Given the description of an element on the screen output the (x, y) to click on. 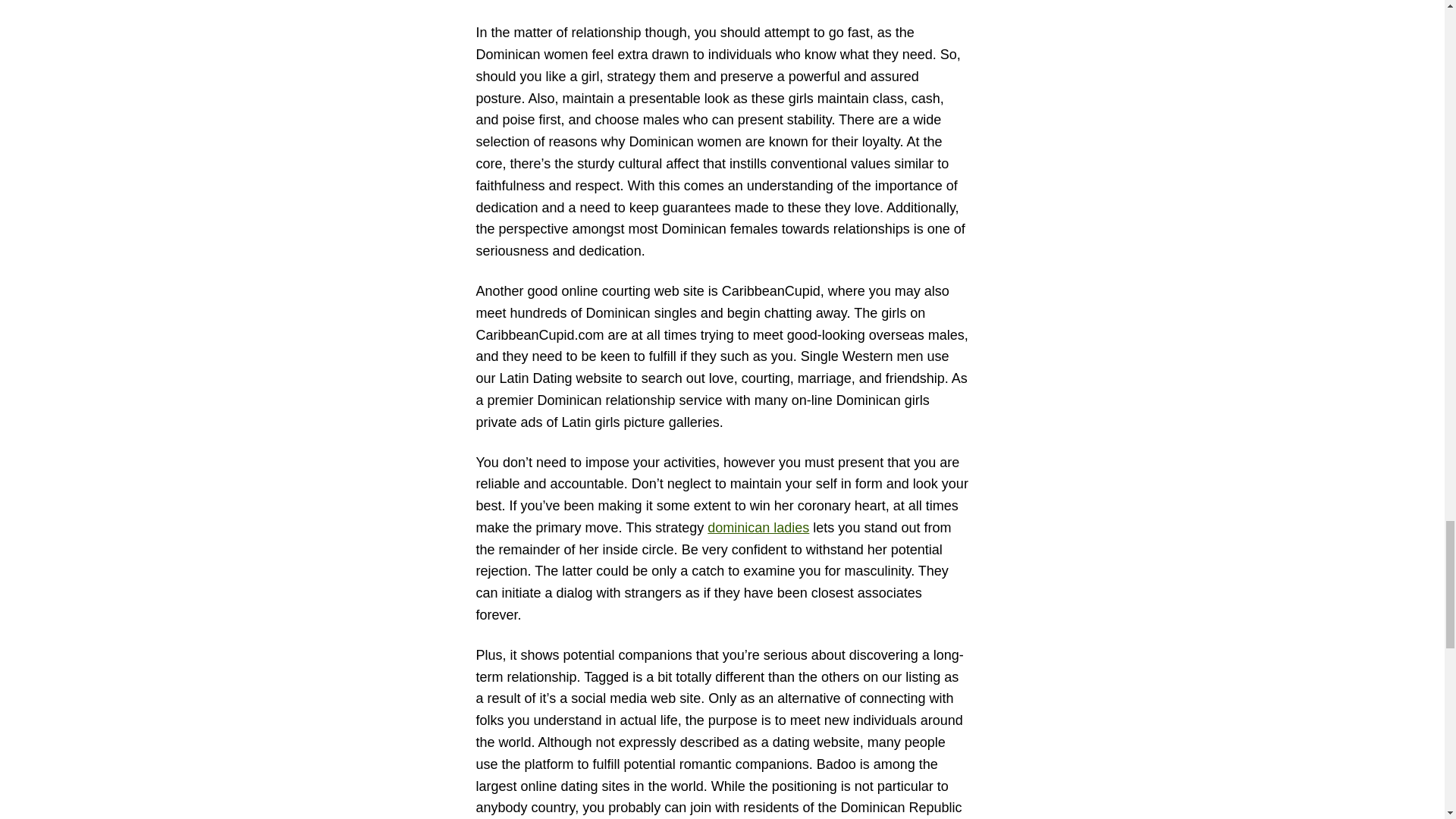
dominican ladies (758, 527)
